Given the description of an element on the screen output the (x, y) to click on. 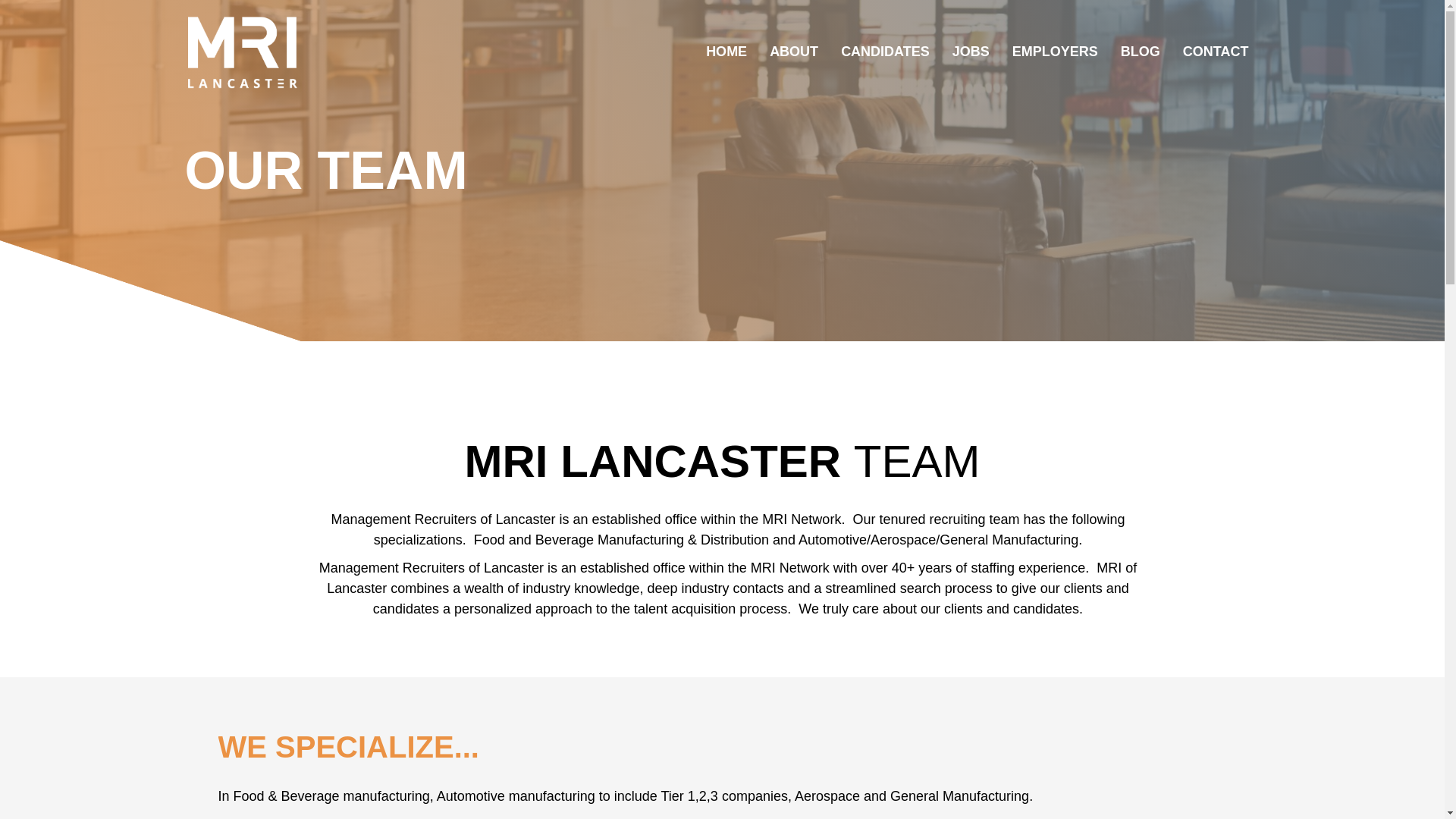
HOME (726, 51)
JOBS (970, 51)
CONTACT (1216, 51)
MRILancaster-REV (241, 51)
CANDIDATES (884, 51)
BLOG (1140, 51)
EMPLOYERS (1055, 51)
ABOUT (793, 51)
